Given the description of an element on the screen output the (x, y) to click on. 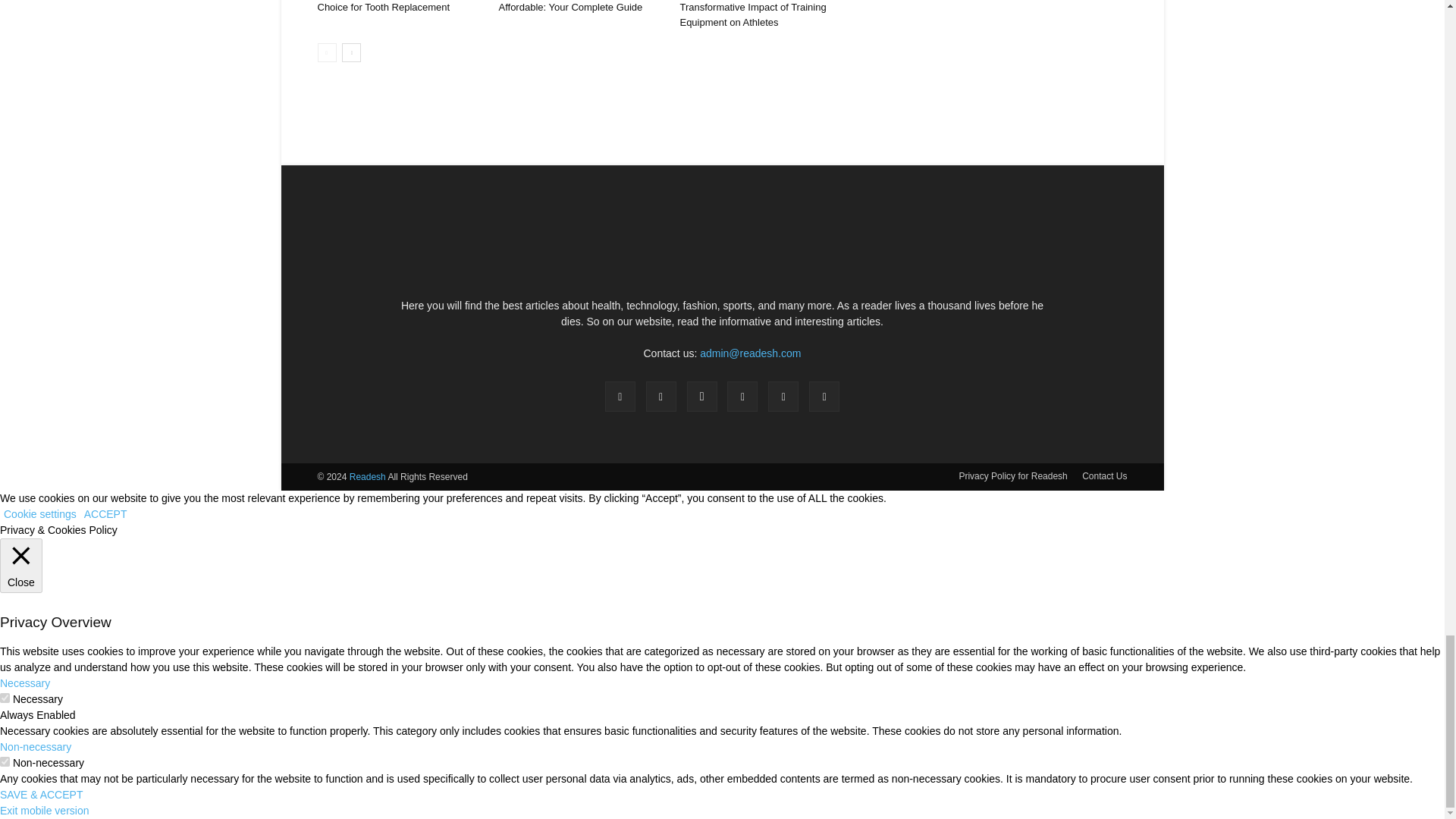
on (5, 697)
on (5, 761)
